Given the description of an element on the screen output the (x, y) to click on. 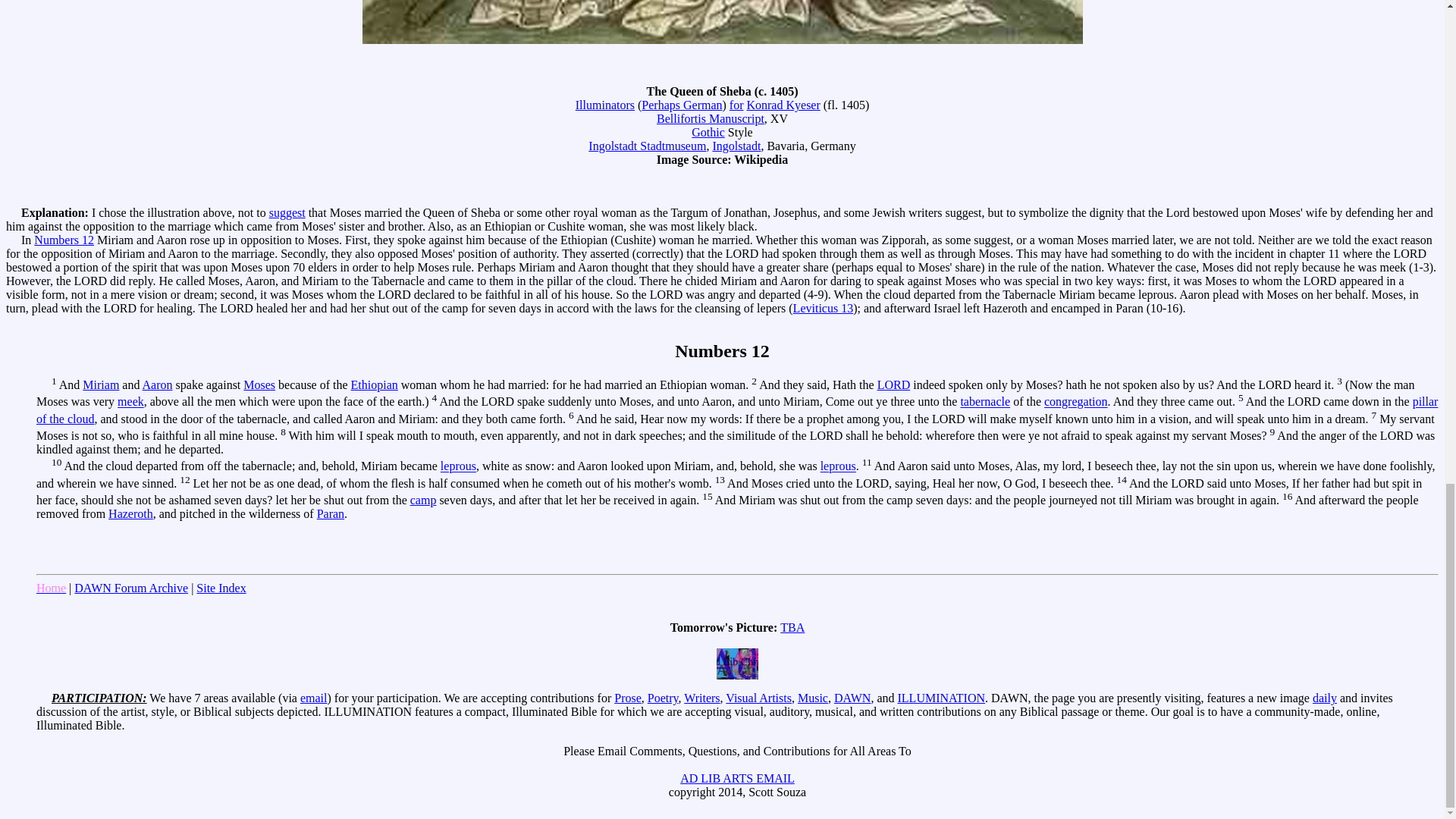
camp (423, 499)
Illuminators (604, 104)
for (736, 104)
TBA (792, 626)
pillar of the cloud (737, 410)
Home (50, 587)
Gothic (708, 132)
Visual Artists (758, 697)
Miriam (100, 384)
Numbers 12 (63, 239)
Ingolstadt (735, 145)
Perhaps German (682, 104)
Paran (330, 513)
meek (130, 401)
DAWN (852, 697)
